Given the description of an element on the screen output the (x, y) to click on. 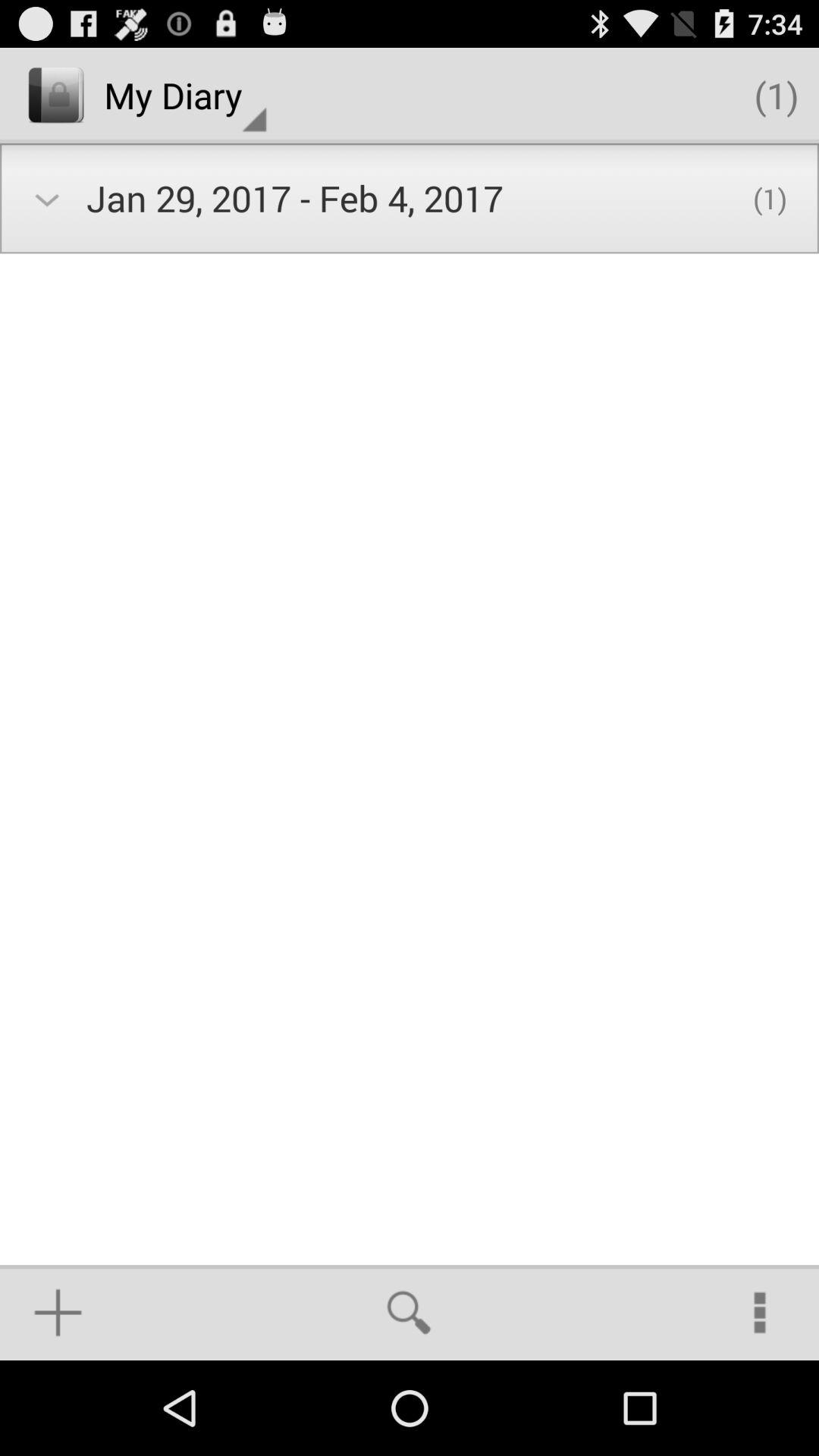
press my diary (185, 95)
